Given the description of an element on the screen output the (x, y) to click on. 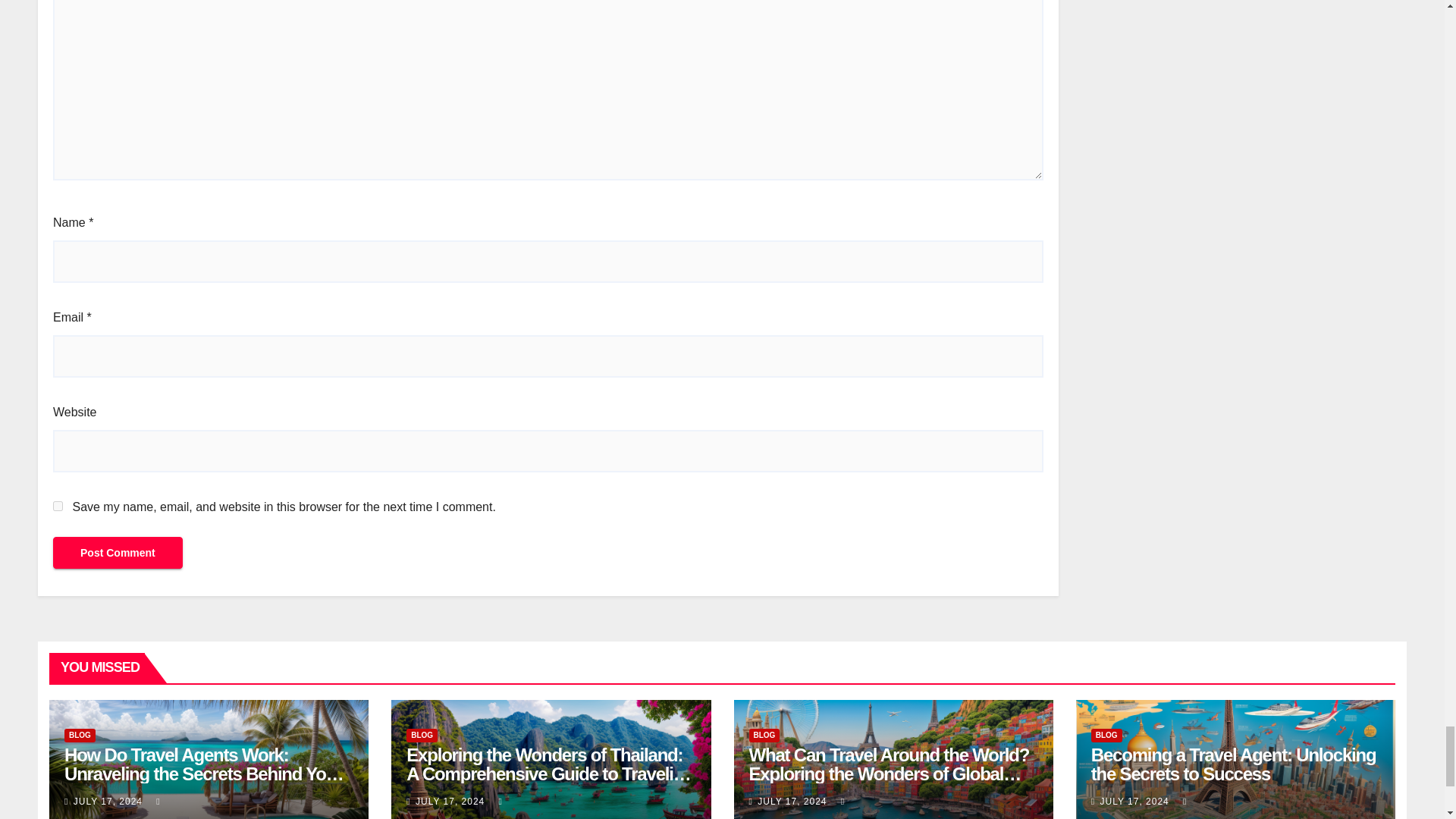
Post Comment (117, 552)
yes (57, 506)
